Given the description of an element on the screen output the (x, y) to click on. 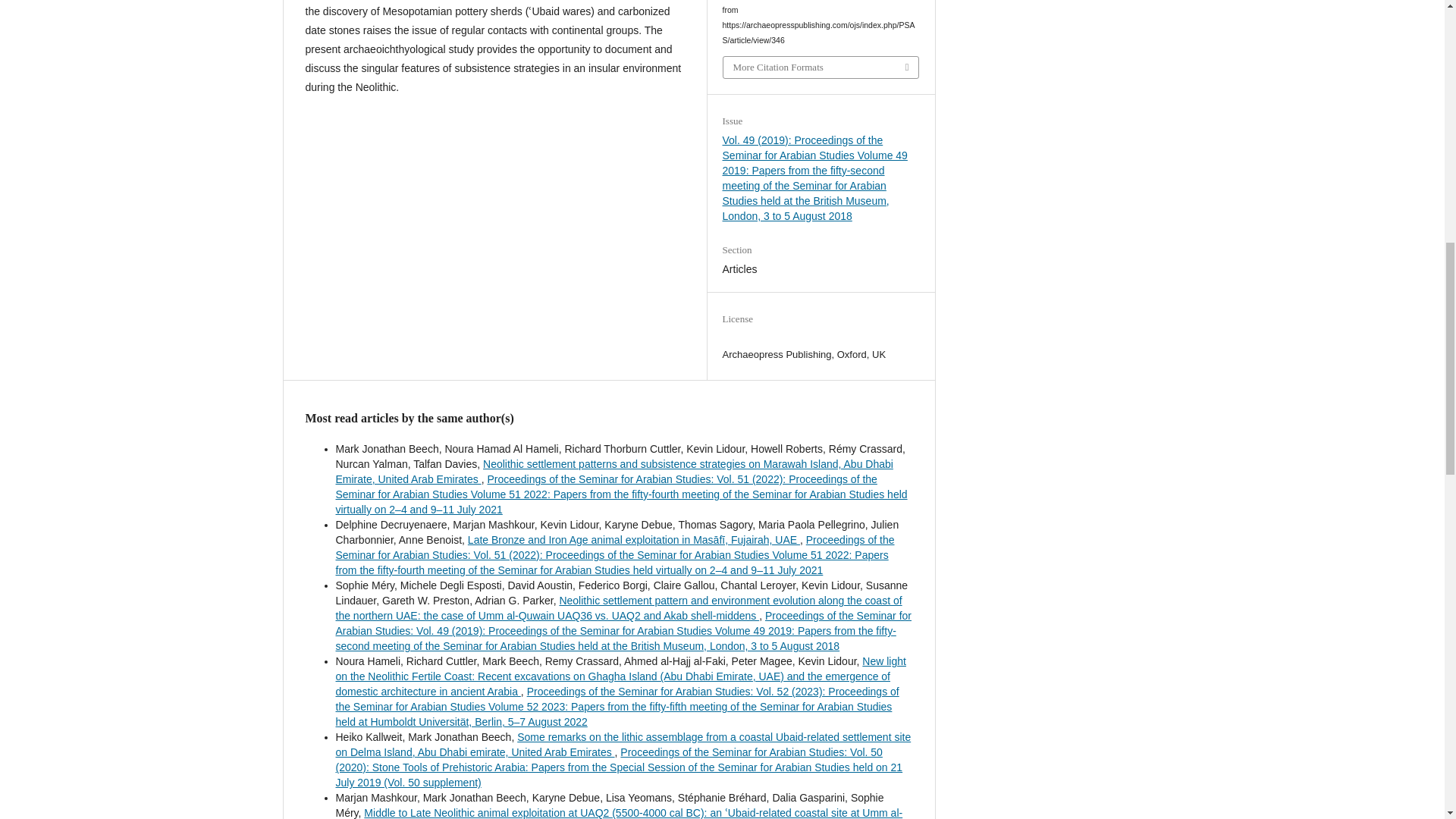
More Citation Formats (820, 66)
